Given the description of an element on the screen output the (x, y) to click on. 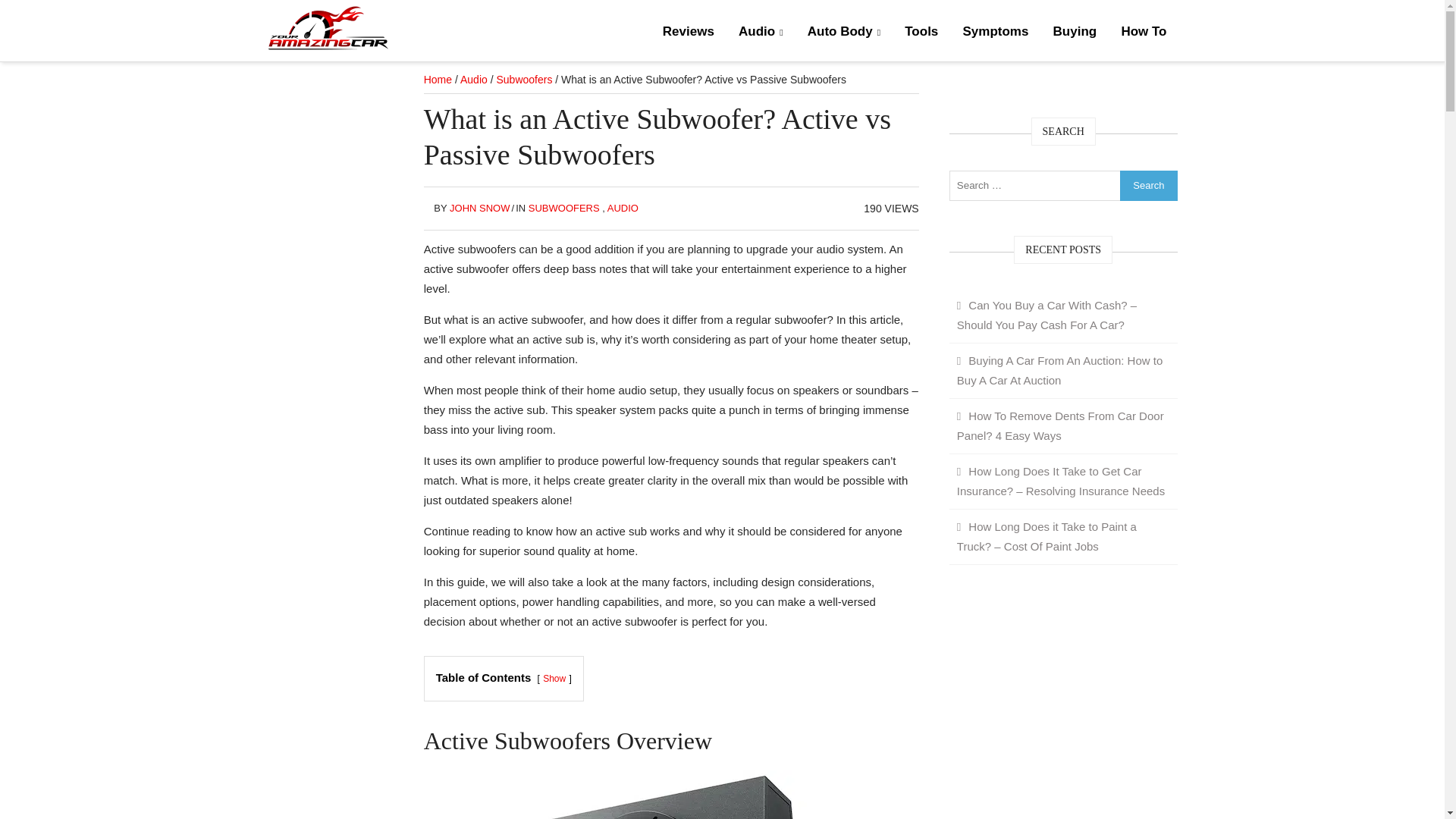
Buying (1075, 31)
Tools (921, 31)
SUBWOOFERS (563, 207)
Reviews (688, 31)
How To (1142, 31)
Search (1147, 184)
Subwoofers (523, 79)
Posts by John Snow (479, 207)
Audio (473, 79)
Show (554, 678)
Audio (760, 31)
JOHN SNOW (479, 207)
Search (1147, 184)
Symptoms (995, 31)
Auto Body (843, 31)
